Given the description of an element on the screen output the (x, y) to click on. 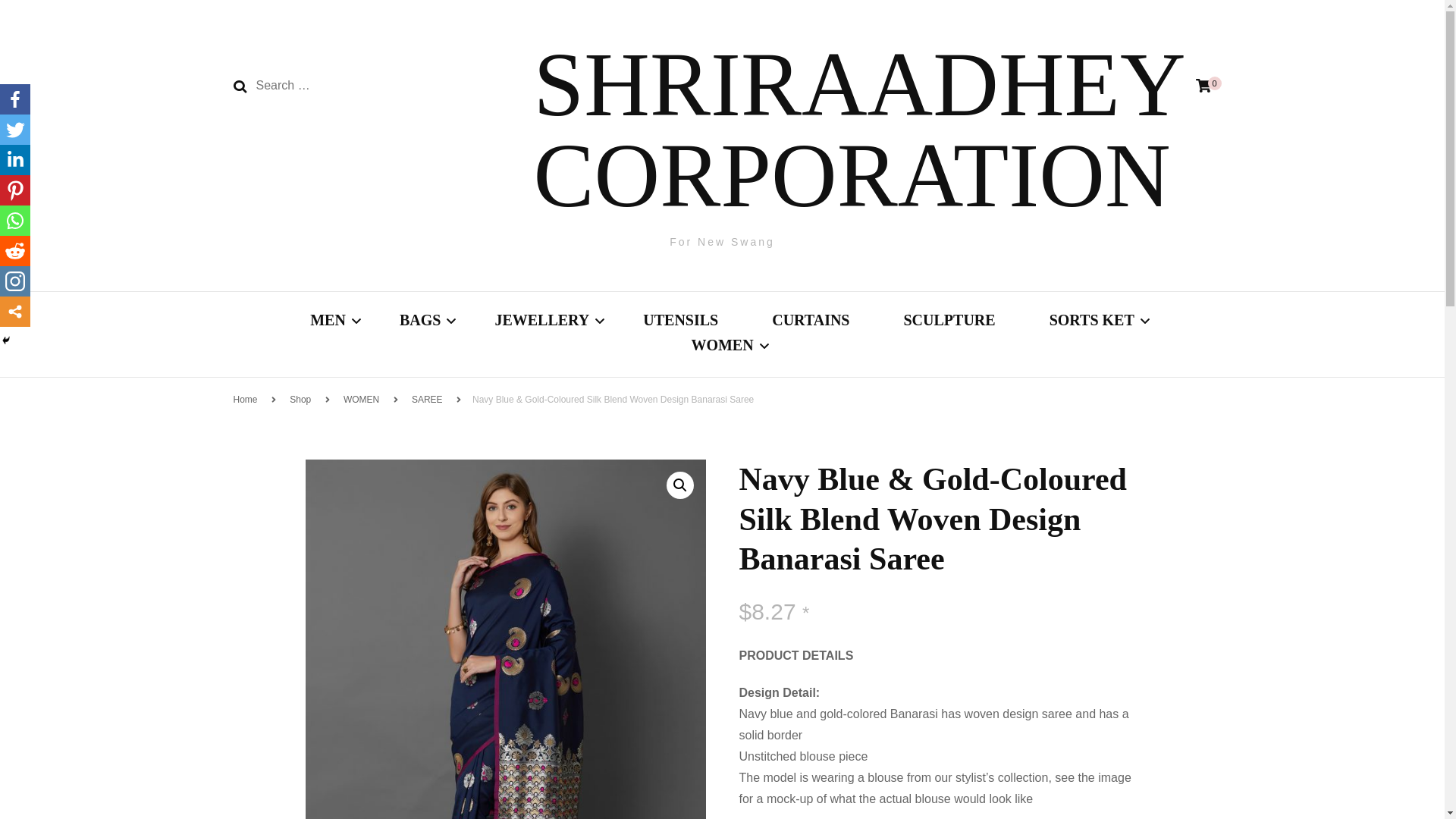
CURTAINS (809, 321)
View your shopping cart (1203, 85)
SORTS KET (1091, 321)
UTENSILS (680, 321)
SCULPTURE (948, 321)
SHRIRAADHEY CORPORATION (860, 130)
MEN (328, 321)
Search (239, 86)
JEWELLERY (542, 321)
0 (1203, 85)
Search (239, 86)
Search (239, 86)
BAGS (419, 321)
WOMEN (721, 346)
